Given the description of an element on the screen output the (x, y) to click on. 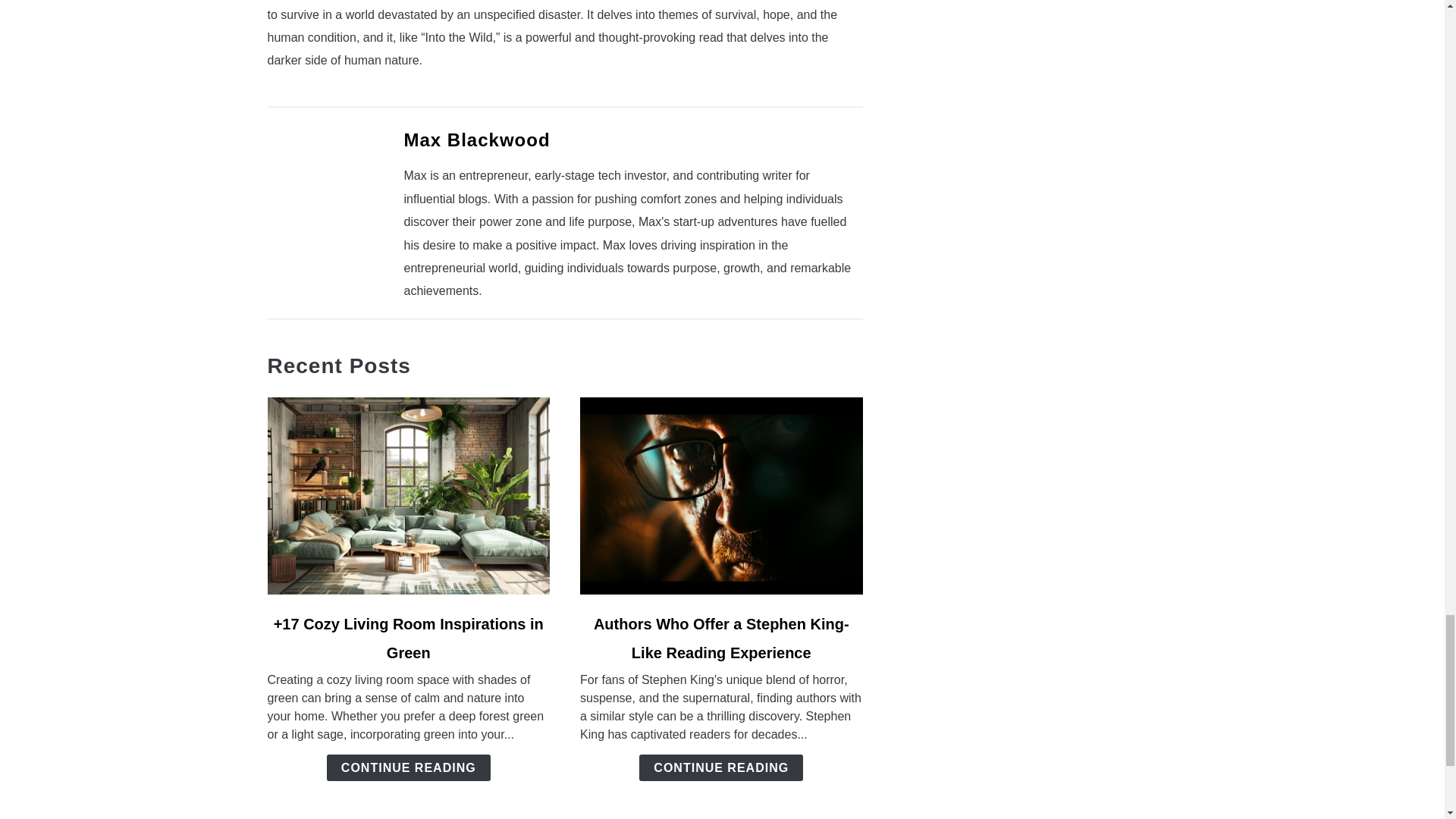
Max Blackwood (476, 139)
CONTINUE READING (408, 767)
Authors Who Offer a Stephen King-Like Reading Experience (721, 637)
CONTINUE READING (721, 767)
